Given the description of an element on the screen output the (x, y) to click on. 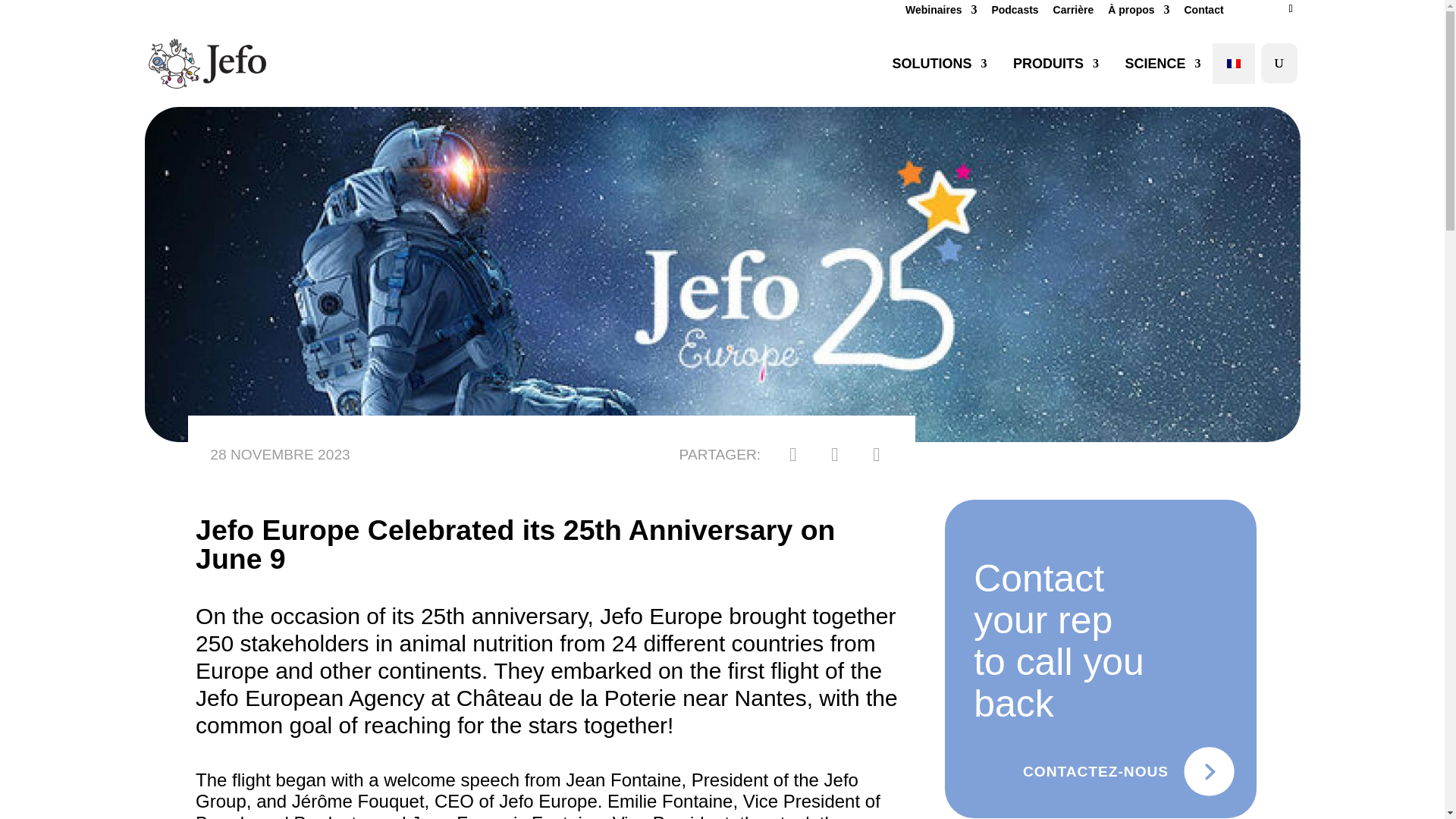
Contact (1203, 13)
Webinaires (940, 13)
SOLUTIONS (935, 63)
Podcasts (1014, 13)
FR (1233, 62)
PRODUITS (1052, 63)
